Given the description of an element on the screen output the (x, y) to click on. 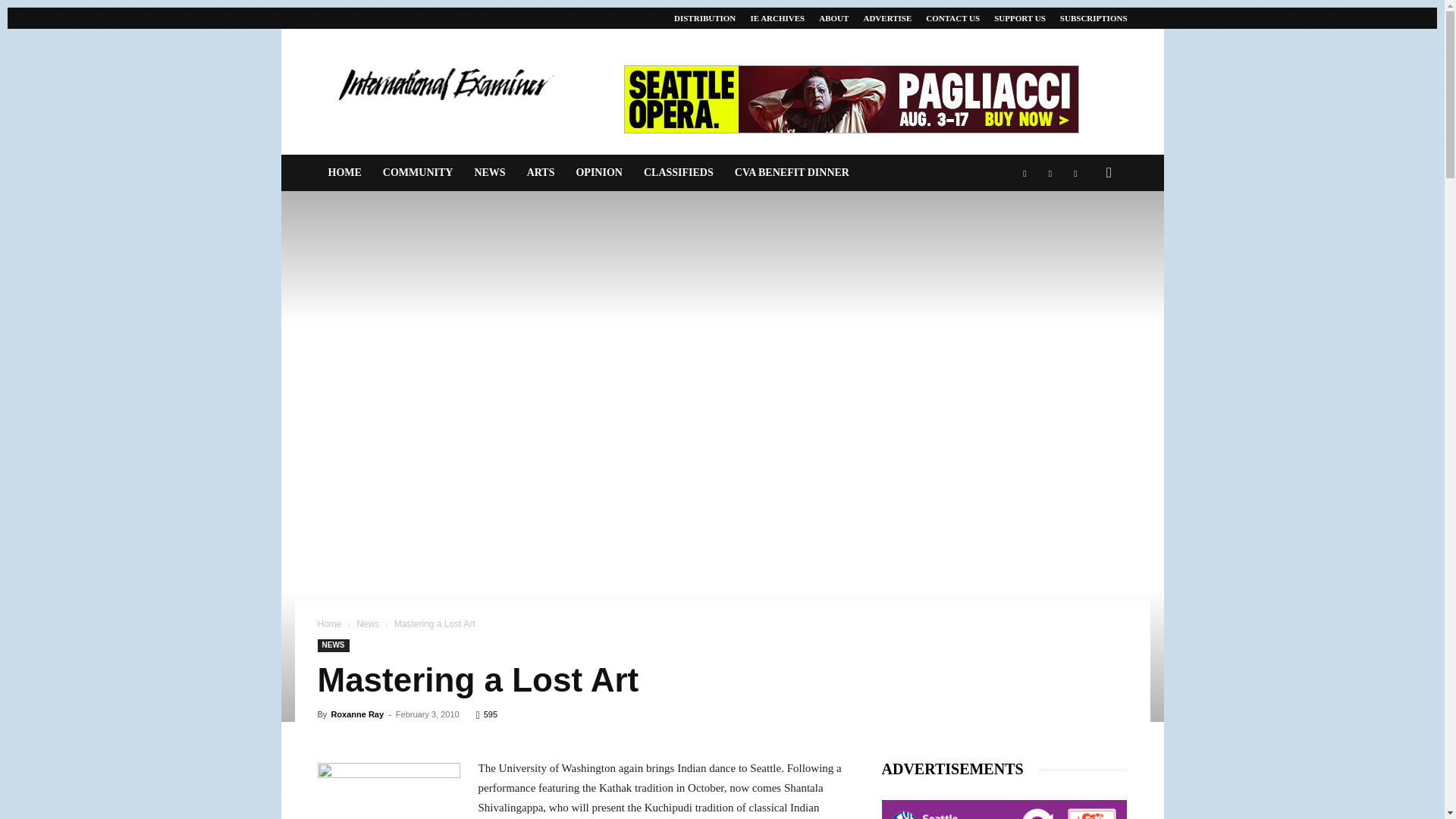
Home (328, 624)
COMMUNITY (418, 172)
ABOUT (833, 17)
View all posts in News (367, 624)
Pagliacci (850, 99)
OPINION (597, 172)
SUBSCRIPTIONS (1092, 17)
NEWS (489, 172)
SUPPORT US (1019, 17)
CONTACT US (952, 17)
CLASSIFIEDS (678, 172)
ADVERTISE (887, 17)
Shantala Shivalingappa poses in a traditional Indian dance.  (388, 790)
Search (1085, 233)
DISTRIBUTION (704, 17)
